Given the description of an element on the screen output the (x, y) to click on. 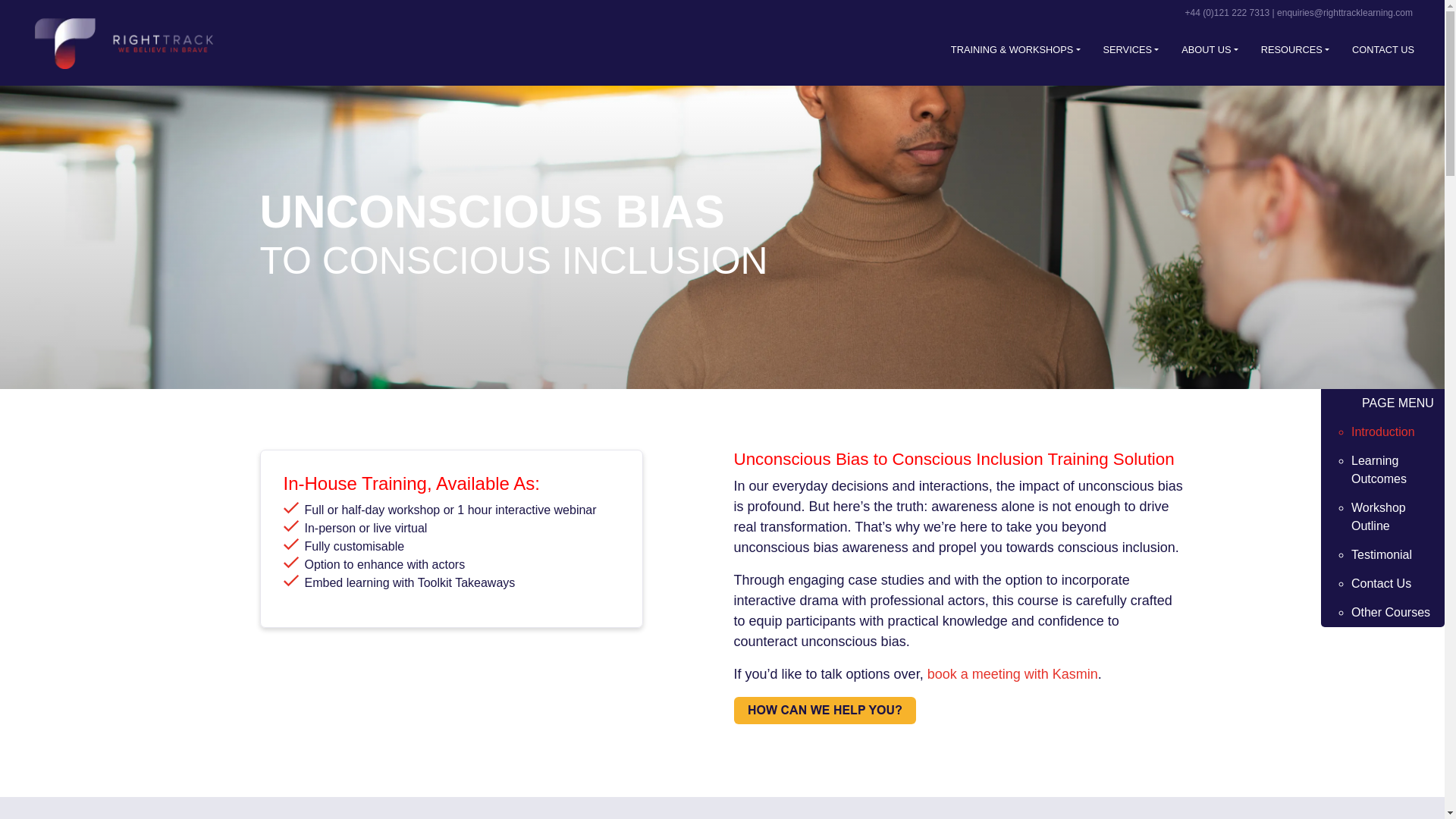
SERVICES (1130, 49)
ABOUT US (1208, 49)
RESOURCES (1294, 49)
About Us (1208, 49)
Services (1130, 49)
